Given the description of an element on the screen output the (x, y) to click on. 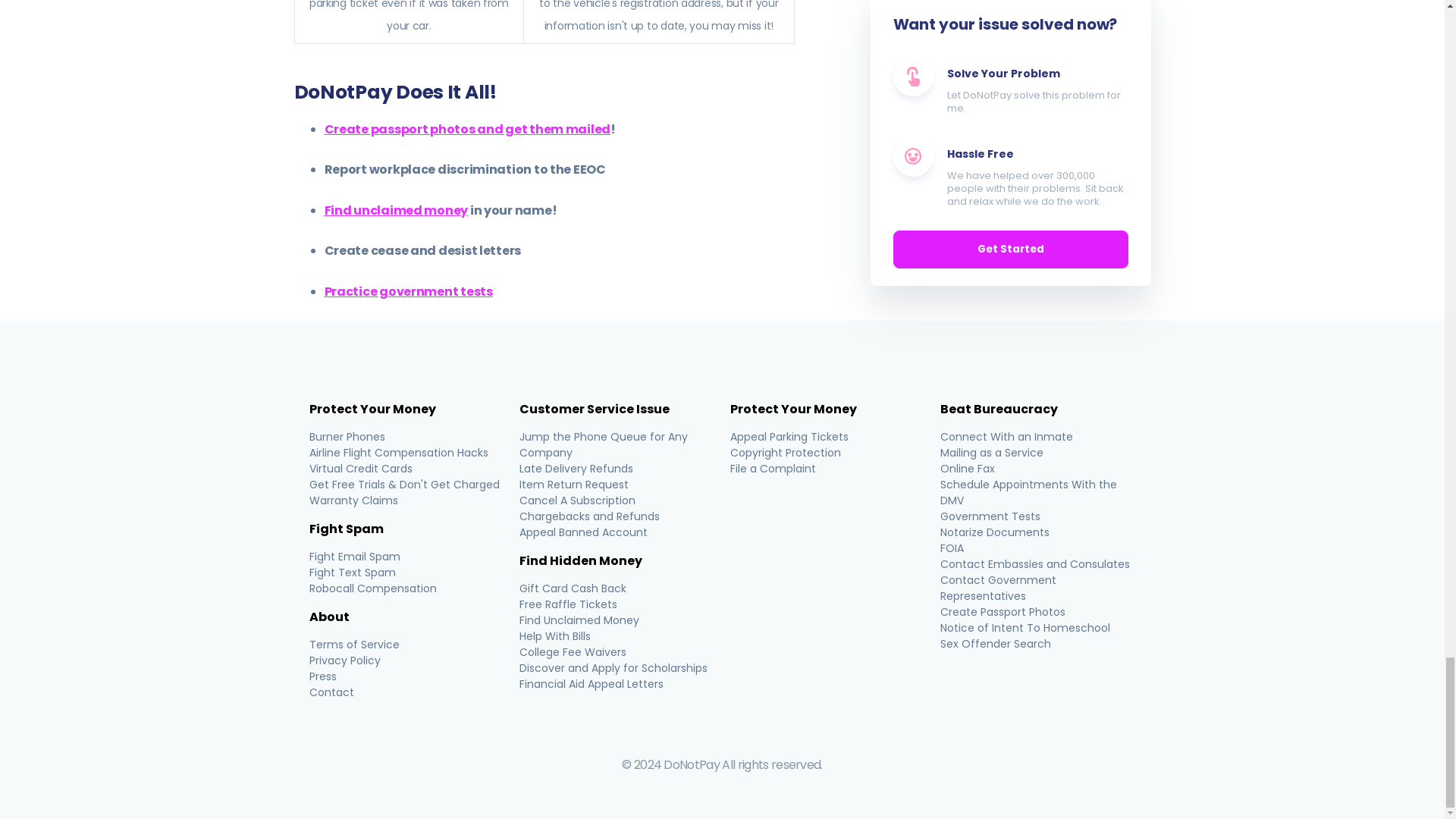
Find unclaimed money (396, 210)
Create passport photos and get them mailed (467, 128)
Practice government tests (408, 291)
